Given the description of an element on the screen output the (x, y) to click on. 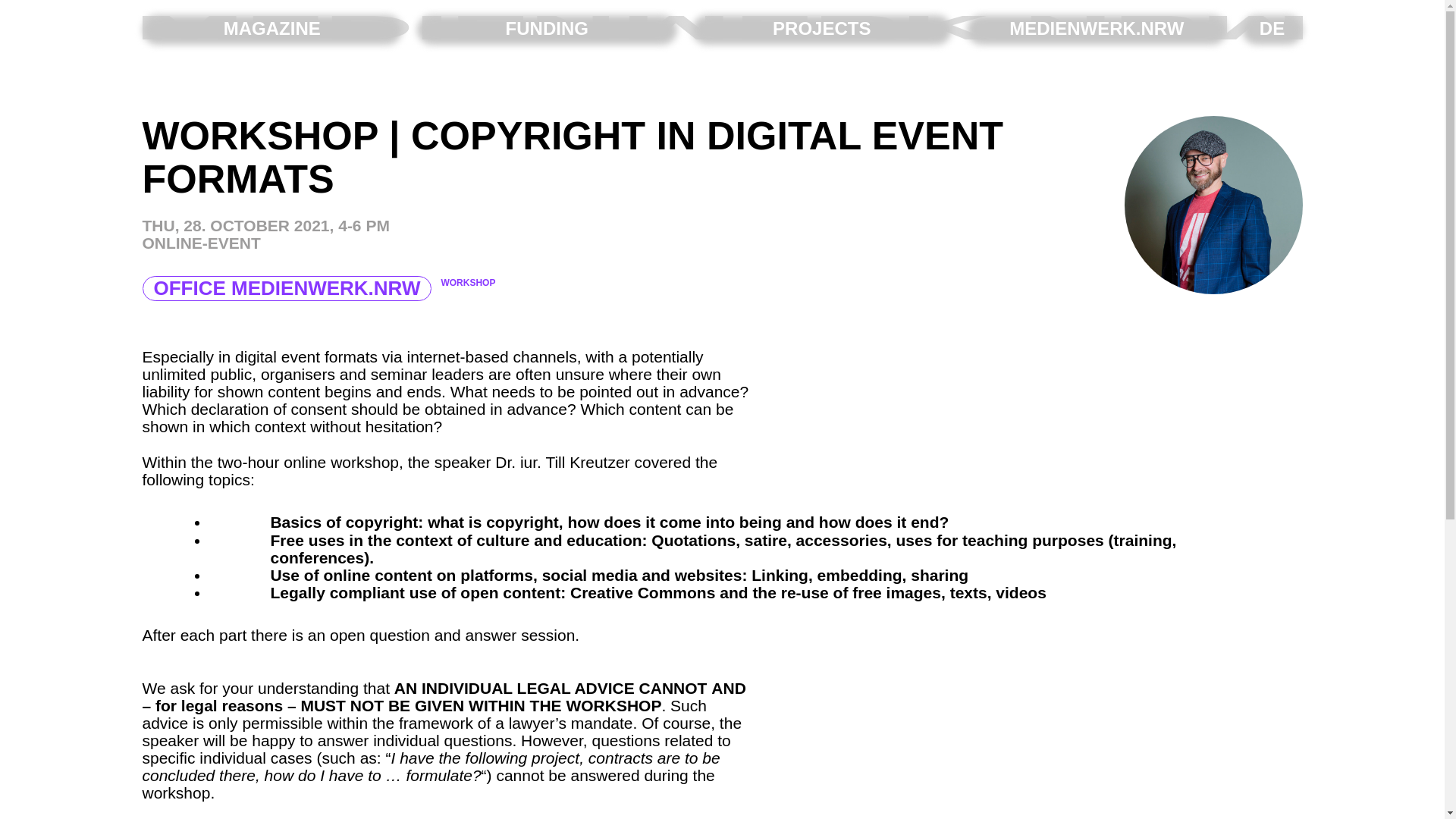
PROJECTS (821, 28)
MEDIENWERK.NRW (1096, 28)
MAGAZINE (271, 28)
FUNDING (546, 28)
DE (1271, 28)
